Given the description of an element on the screen output the (x, y) to click on. 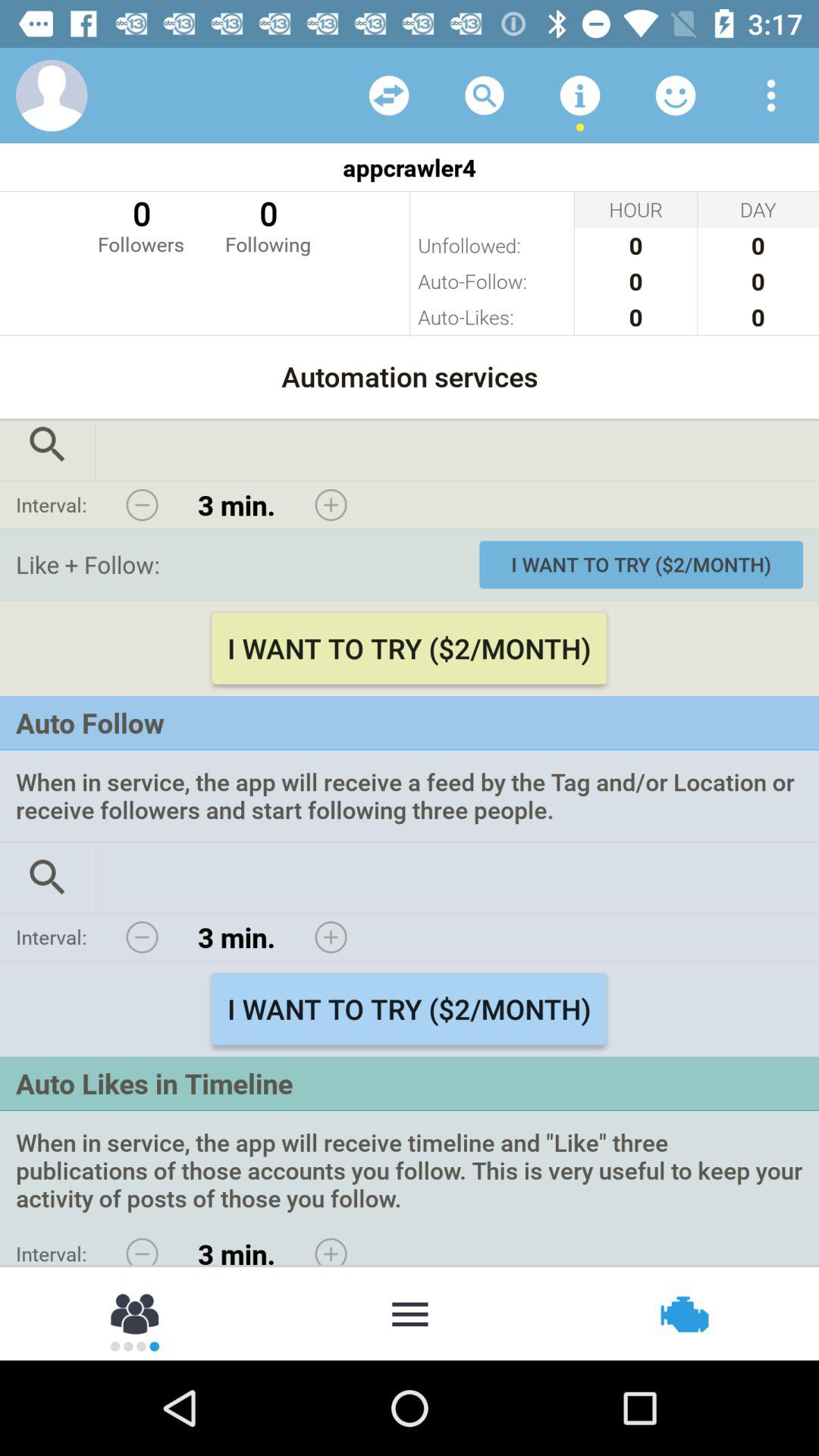
more information (579, 95)
